Given the description of an element on the screen output the (x, y) to click on. 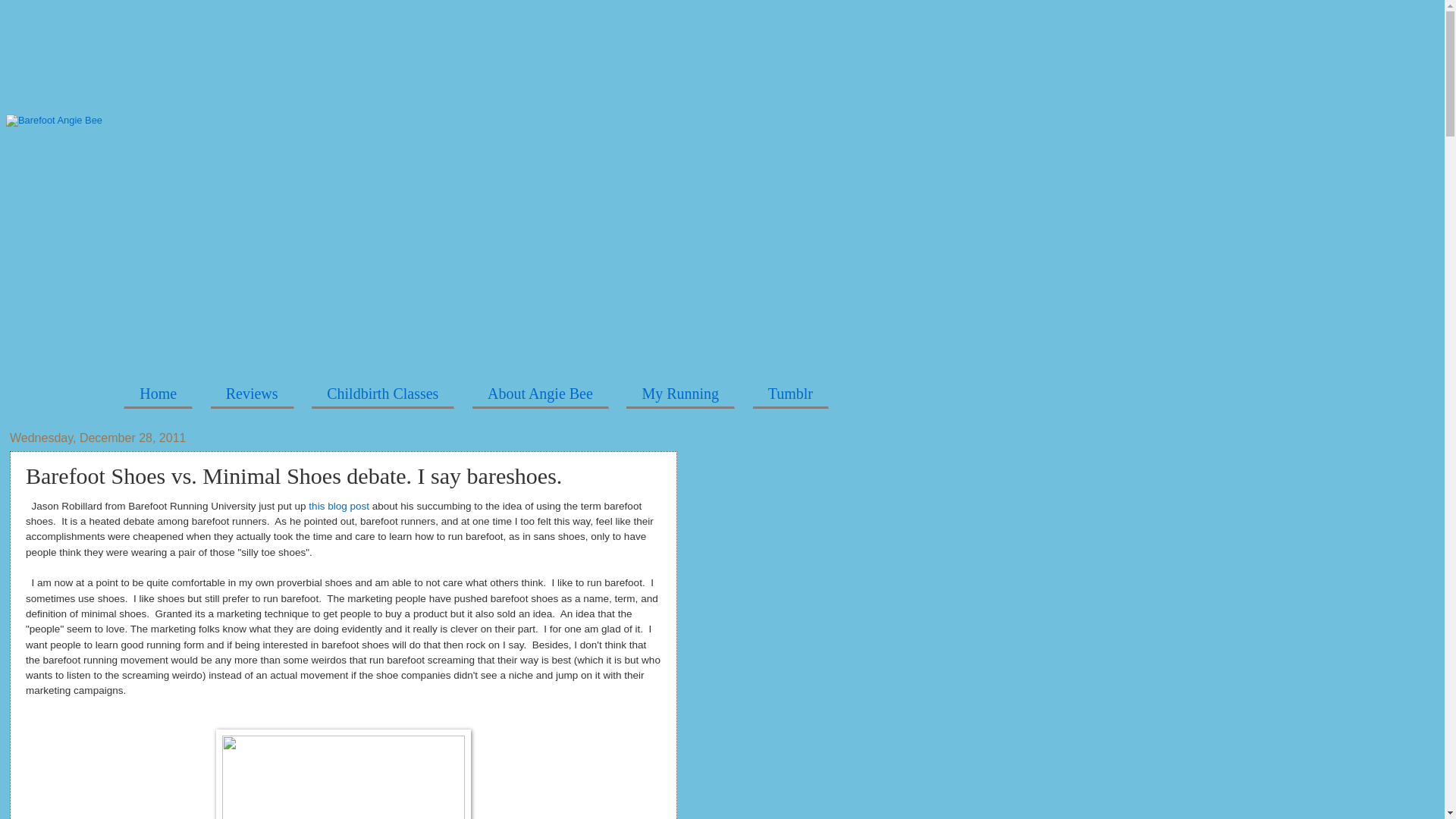
Home (157, 394)
Tumblr (790, 394)
this blog post (337, 505)
Childbirth Classes (382, 394)
Reviews (252, 394)
My Running (680, 394)
About Angie Bee (539, 394)
